Given the description of an element on the screen output the (x, y) to click on. 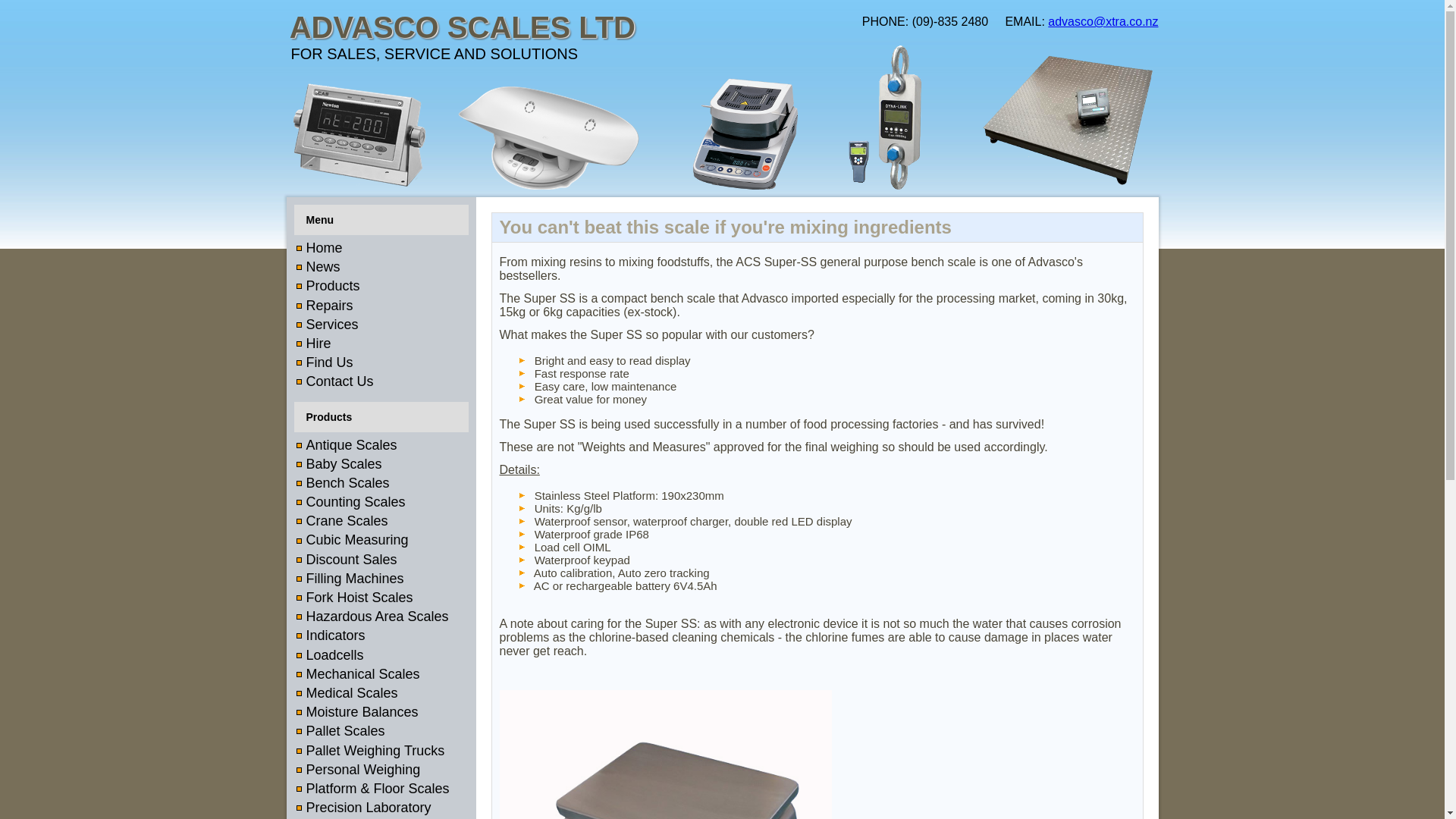
Contact Us (339, 381)
Baby Scales (345, 464)
Services (331, 324)
Find Us (329, 362)
Hazardous Area Scales (378, 617)
Bench Scales (349, 483)
Pallet Scales (346, 731)
Repairs (329, 305)
Counting Scales (357, 502)
Antique Scales (352, 445)
Personal Weighing (364, 770)
Precision Laboratory Scales (367, 811)
Hire (318, 343)
News (322, 266)
Cubic Measuring (358, 541)
